Given the description of an element on the screen output the (x, y) to click on. 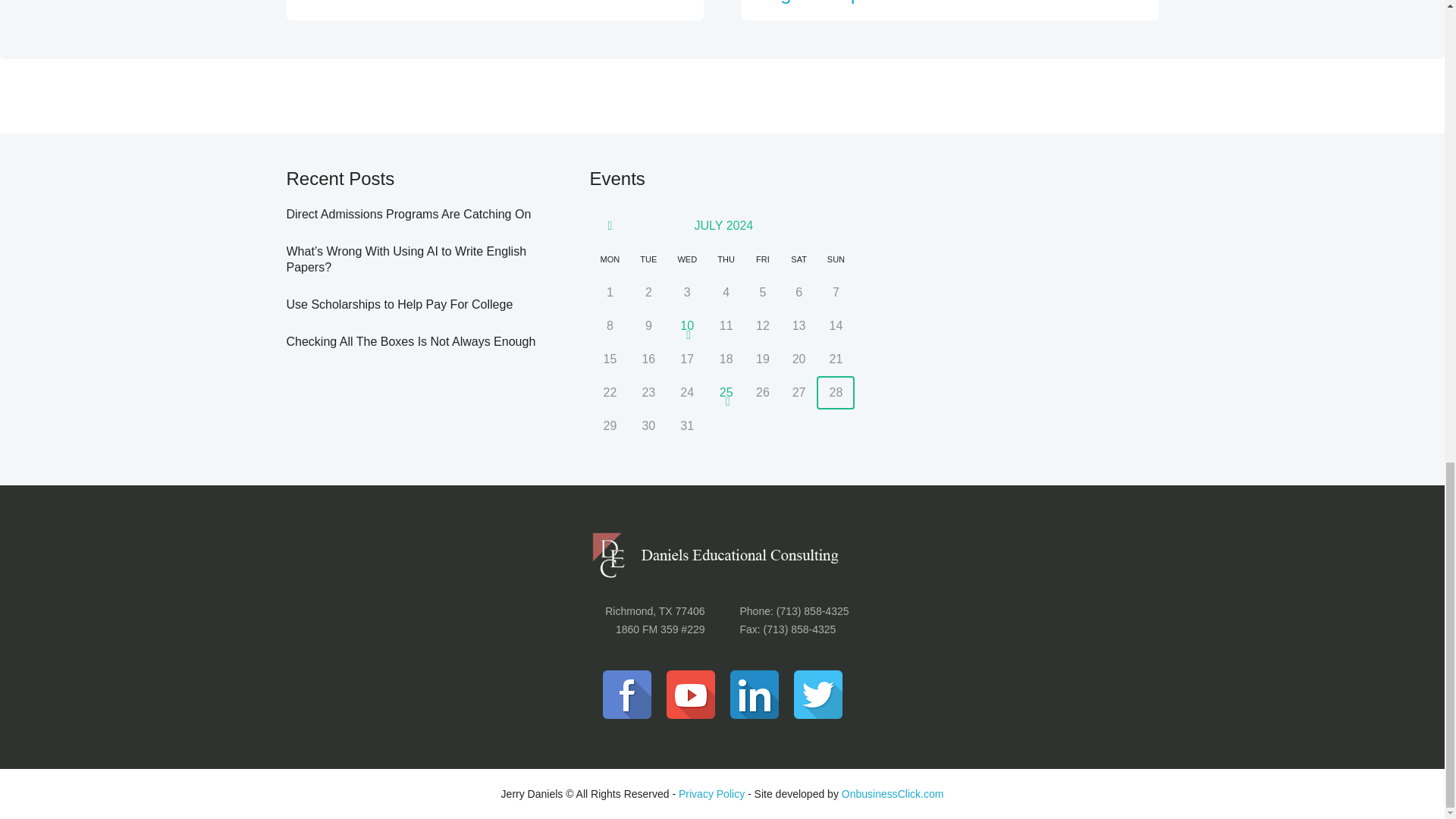
Monday (609, 259)
View posts for February 2024 (609, 226)
Direct Admissions Programs Are Catching On (408, 214)
Wednesday (686, 259)
Thursday (725, 259)
Saturday (798, 259)
Tuesday (648, 259)
Direct Admissions Programs Are Catching On (484, 2)
View posts for July 2024 (724, 225)
Friday (762, 259)
